Given the description of an element on the screen output the (x, y) to click on. 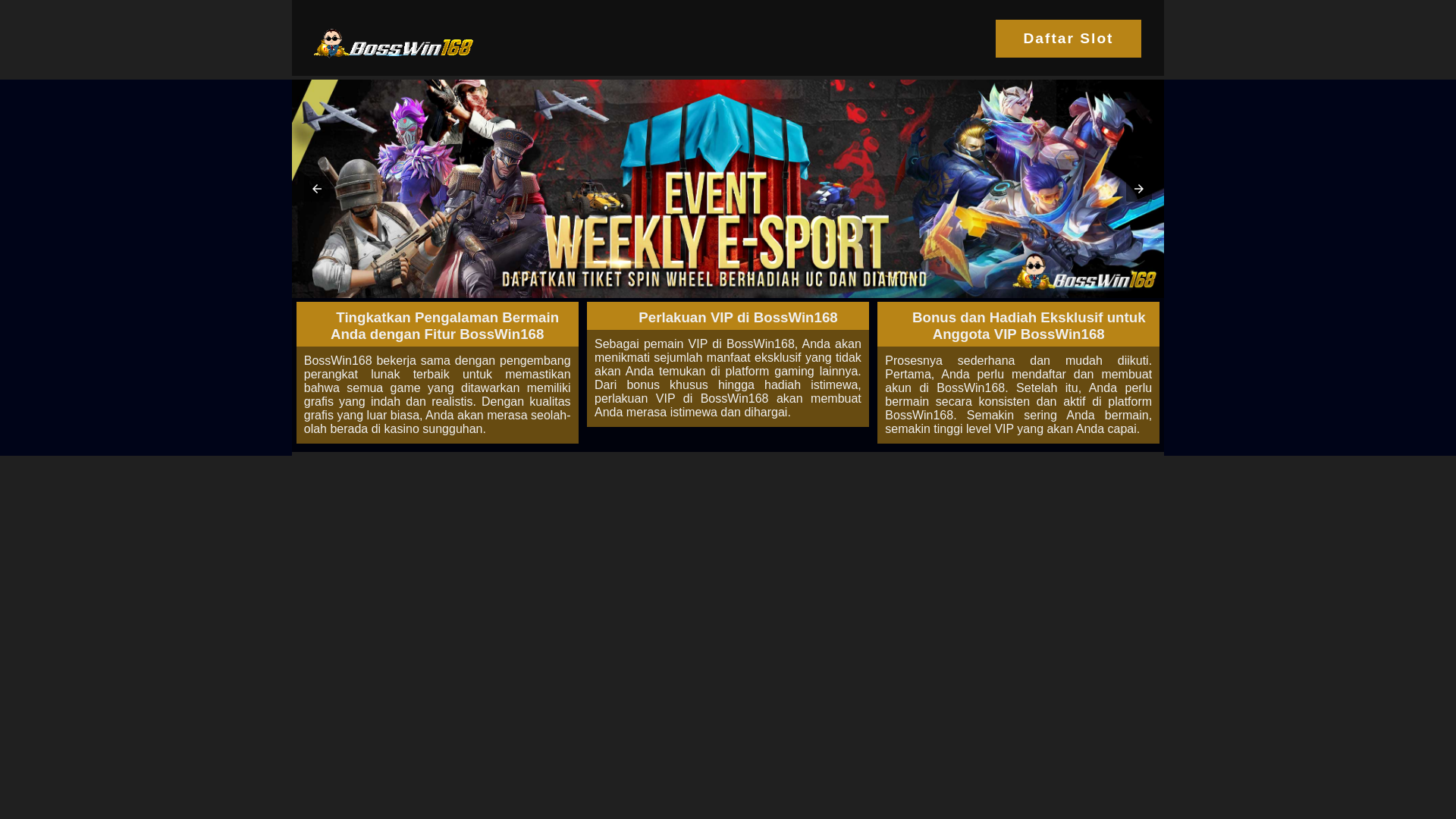
slot online Element type: hover (727, 188)
Previous item in carousel (3 of 4) Element type: hover (316, 188)
Daftar Slot Element type: text (1068, 38)
Next item in carousel (1 of 4) Element type: hover (1138, 188)
